Given the description of an element on the screen output the (x, y) to click on. 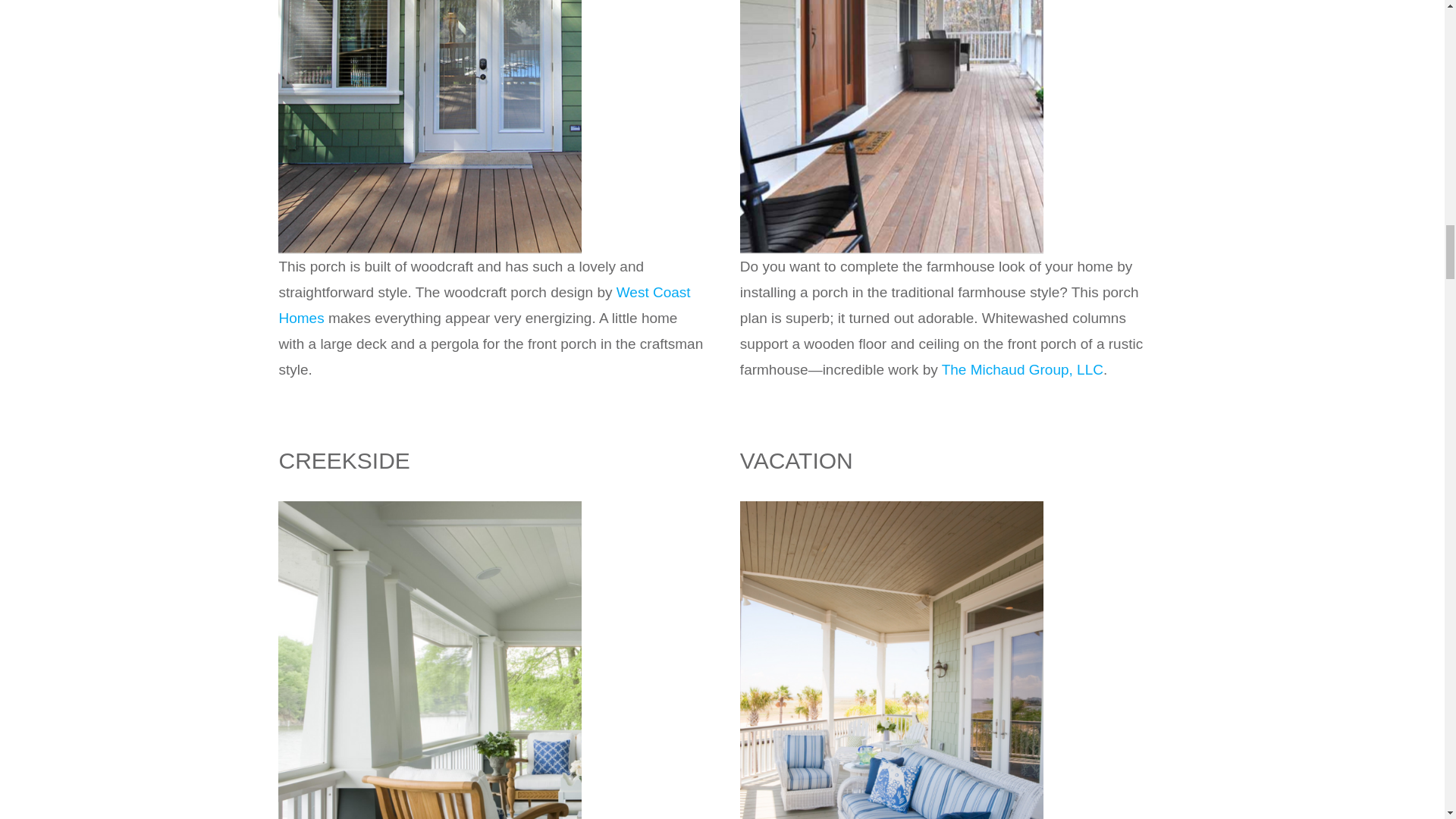
front-back-porch-ideas-sebring-design-build-9 (429, 508)
front-back-porch-ideas-sebring-design-build-10 (891, 508)
